Given the description of an element on the screen output the (x, y) to click on. 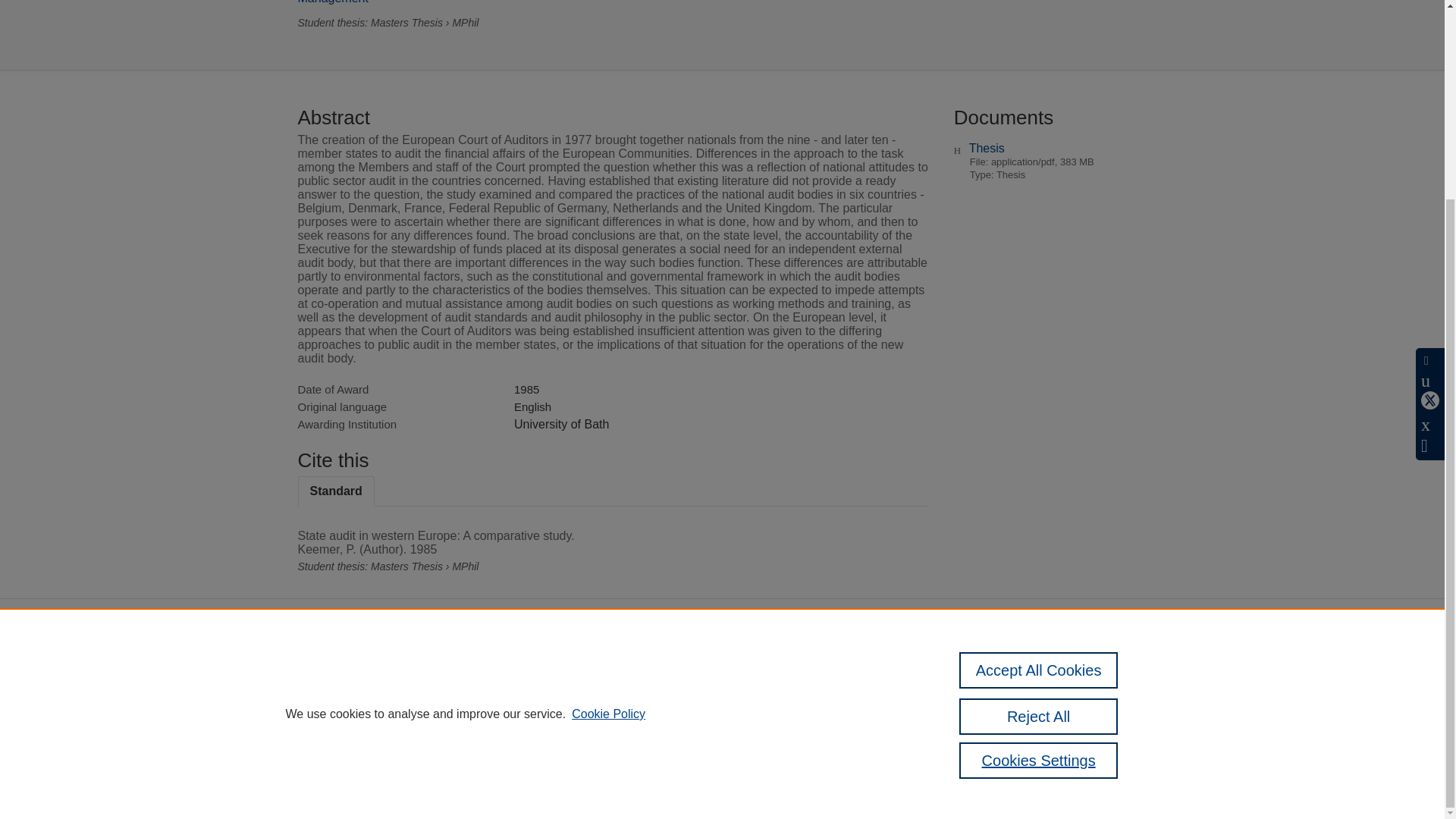
Accept All Cookies (1038, 416)
Report vulnerability (1020, 726)
Log in to Pure (327, 767)
Management (332, 2)
Elsevier B.V. (506, 695)
use of cookies (796, 726)
Reject All (1038, 463)
Cookies Settings (1038, 506)
Scopus (394, 674)
Thesis (986, 147)
About web accessibility (1029, 706)
Pure (362, 674)
Cookie Policy (608, 460)
Cookies Settings (334, 747)
